Given the description of an element on the screen output the (x, y) to click on. 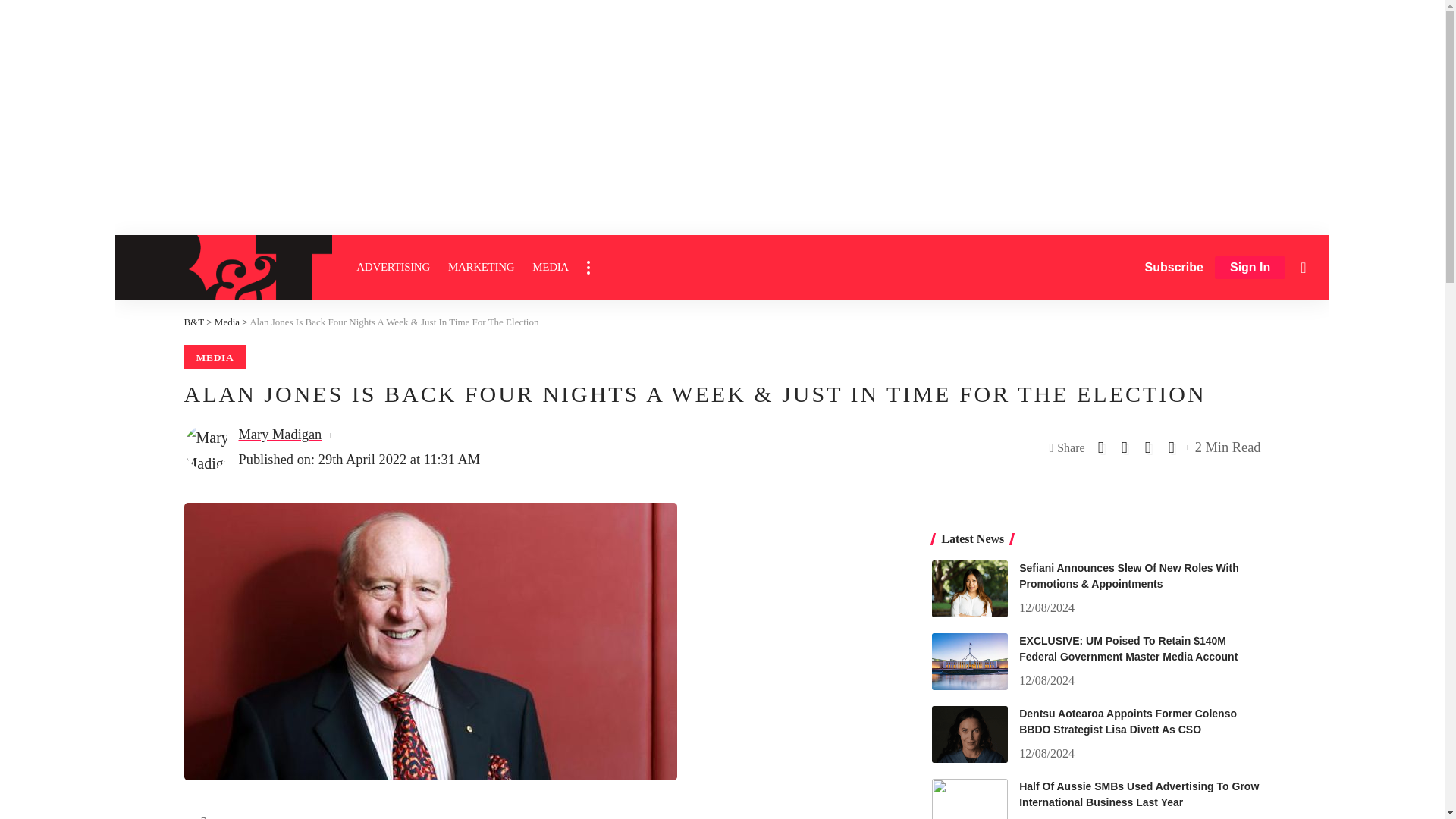
Subscribe (1174, 267)
Go to the Media Category archives. (227, 321)
MARKETING (480, 267)
Sign In (1249, 267)
ADVERTISING (393, 267)
